Given the description of an element on the screen output the (x, y) to click on. 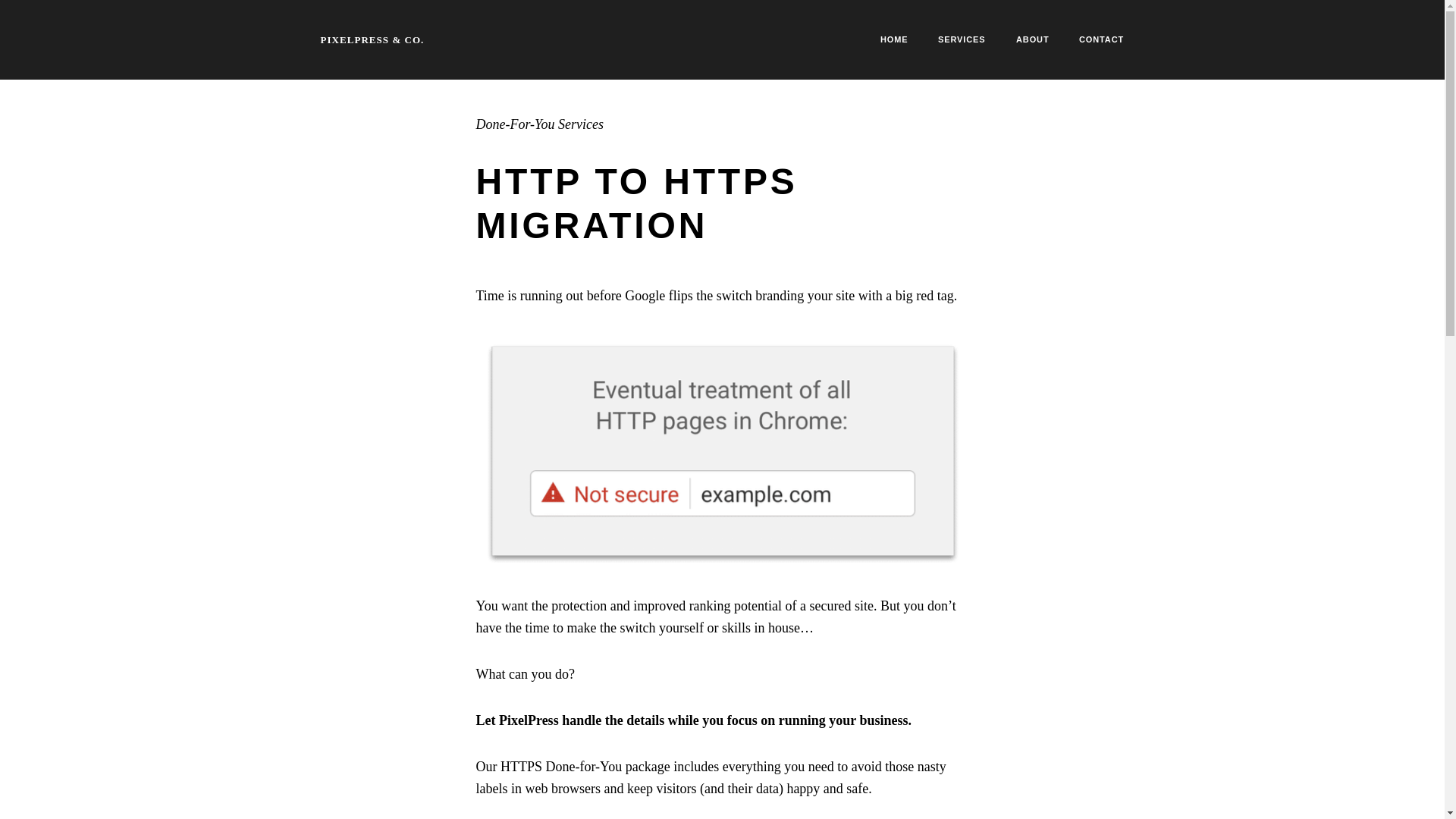
HOME (893, 39)
CONTACT (1101, 39)
ABOUT (1032, 39)
SERVICES (961, 39)
